Given the description of an element on the screen output the (x, y) to click on. 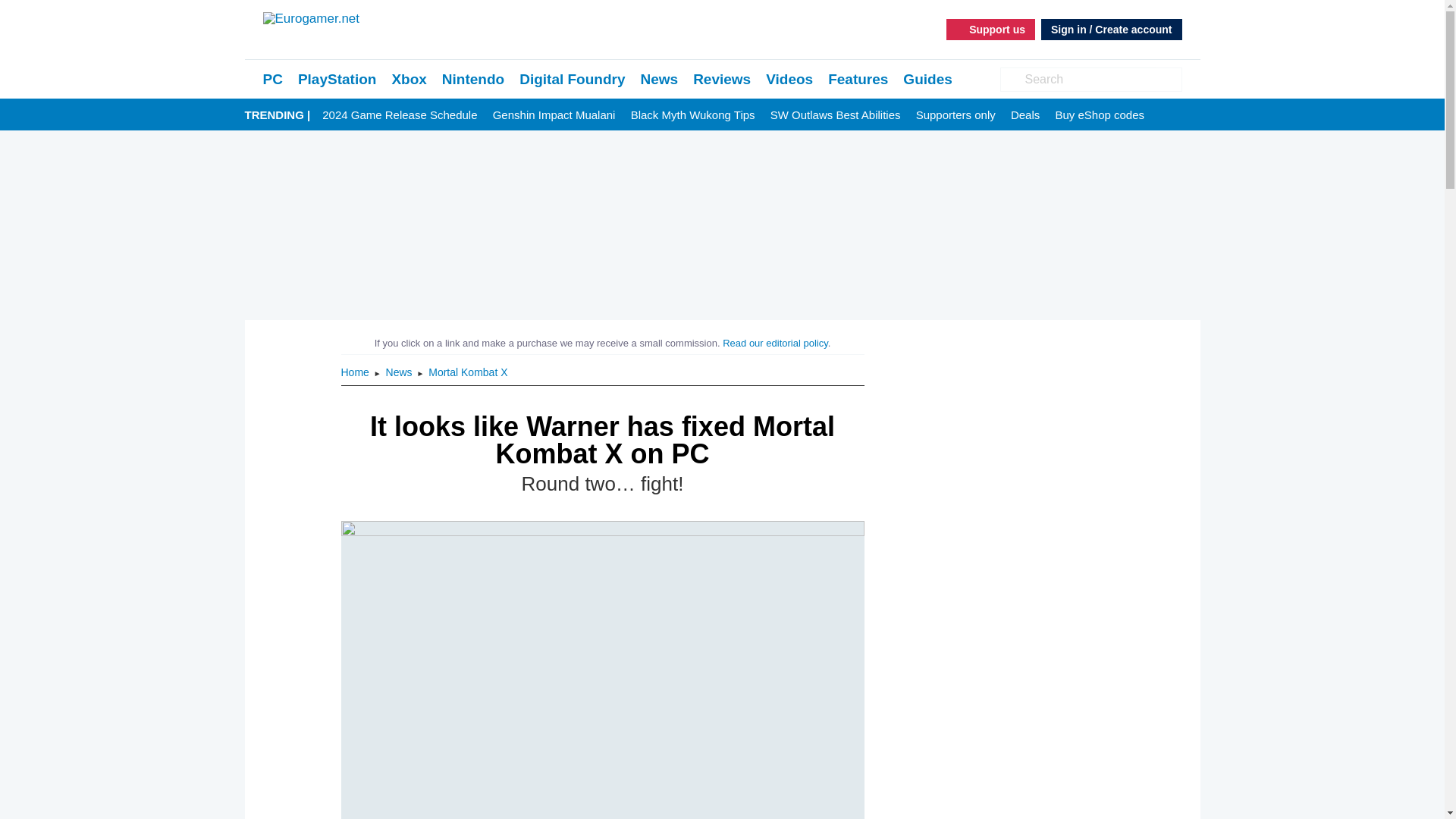
Support us (990, 29)
Mortal Kombat X (467, 372)
News (399, 372)
Black Myth Wukong Tips (692, 114)
Reviews (722, 78)
Deals (1024, 114)
Digital Foundry (571, 78)
Nintendo (472, 78)
Buy eShop codes (1099, 114)
Home (356, 372)
